Given the description of an element on the screen output the (x, y) to click on. 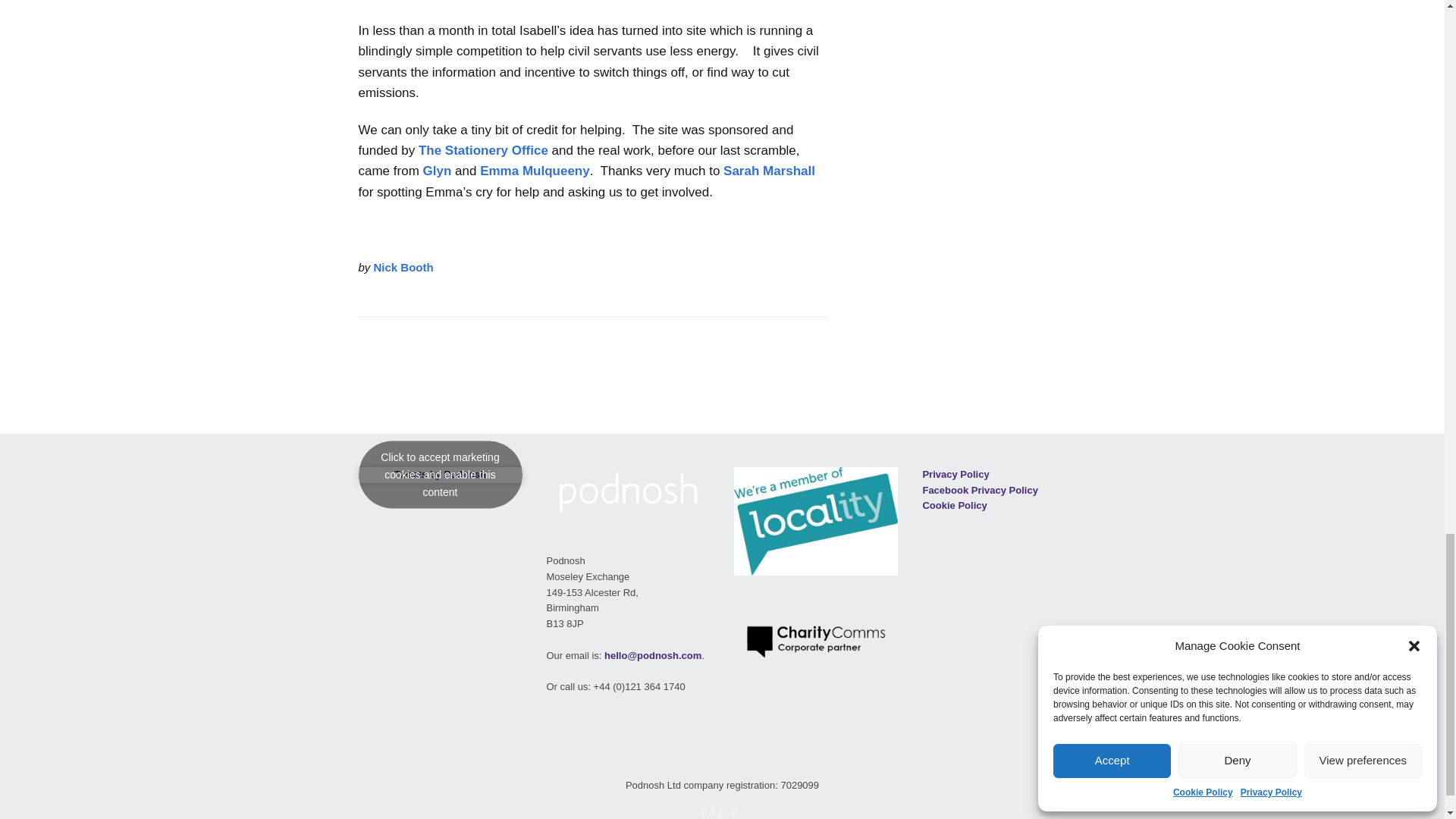
Lolly Pop Publishing (769, 170)
The Stationery Office blog (483, 150)
Glyn on twitter (437, 170)
Mulqueeny (534, 170)
The Stationery Office (483, 150)
